Given the description of an element on the screen output the (x, y) to click on. 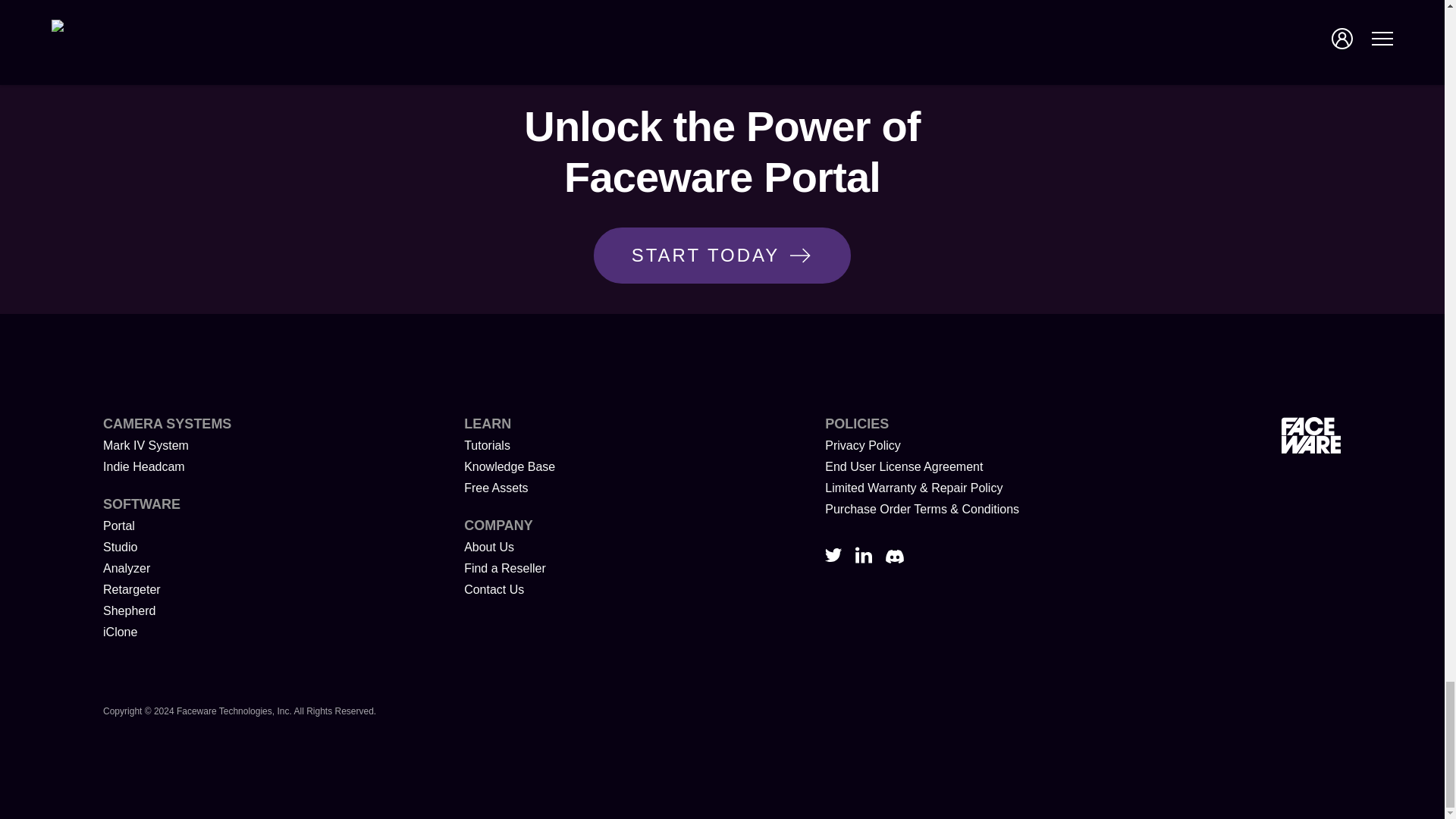
Knowledge Base (509, 466)
Shepherd (129, 610)
End User License Agreement (903, 466)
Find a Reseller (505, 567)
Analyzer (126, 567)
Privacy Policy (863, 445)
About Us (488, 546)
Contact Us (494, 589)
Retargeter (131, 589)
Tutorials (487, 445)
Free Assets (495, 487)
Mark IV System (146, 445)
Studio (119, 546)
Indie Headcam (143, 466)
iClone (119, 631)
